Given the description of an element on the screen output the (x, y) to click on. 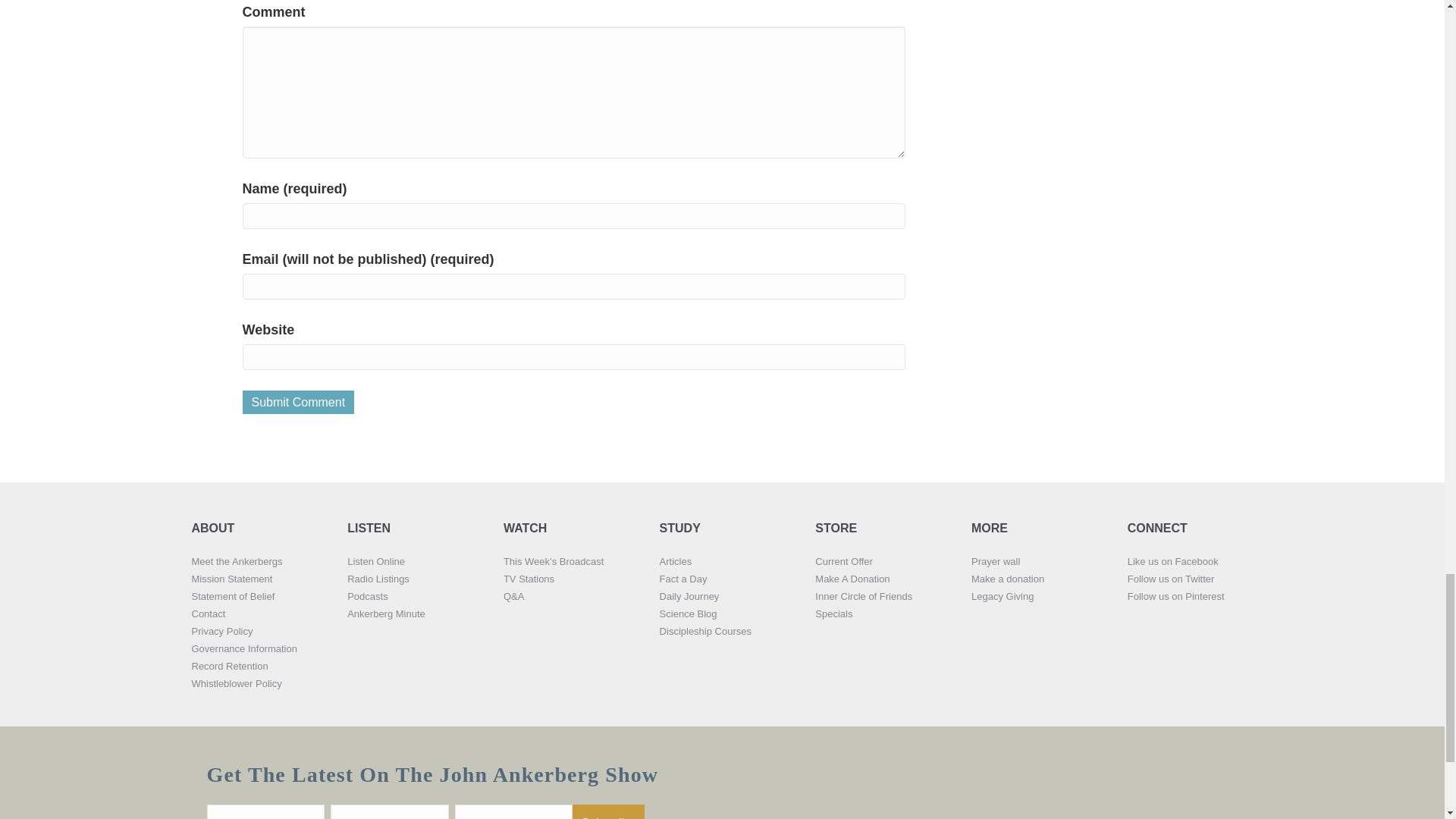
Submit Comment (299, 402)
Subscribe (607, 811)
